Given the description of an element on the screen output the (x, y) to click on. 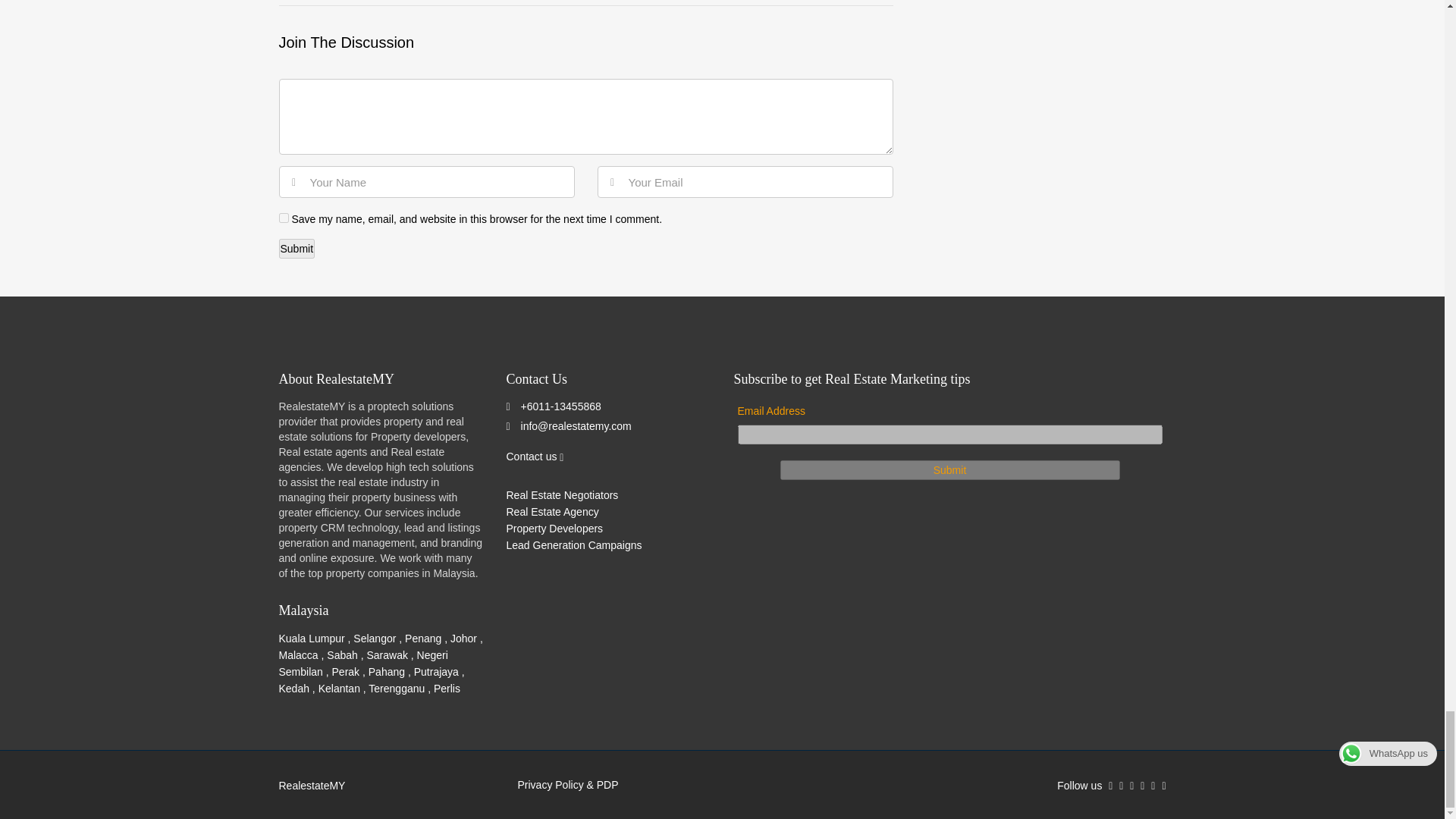
yes (283, 217)
Submit (948, 469)
Submit (297, 248)
